Given the description of an element on the screen output the (x, y) to click on. 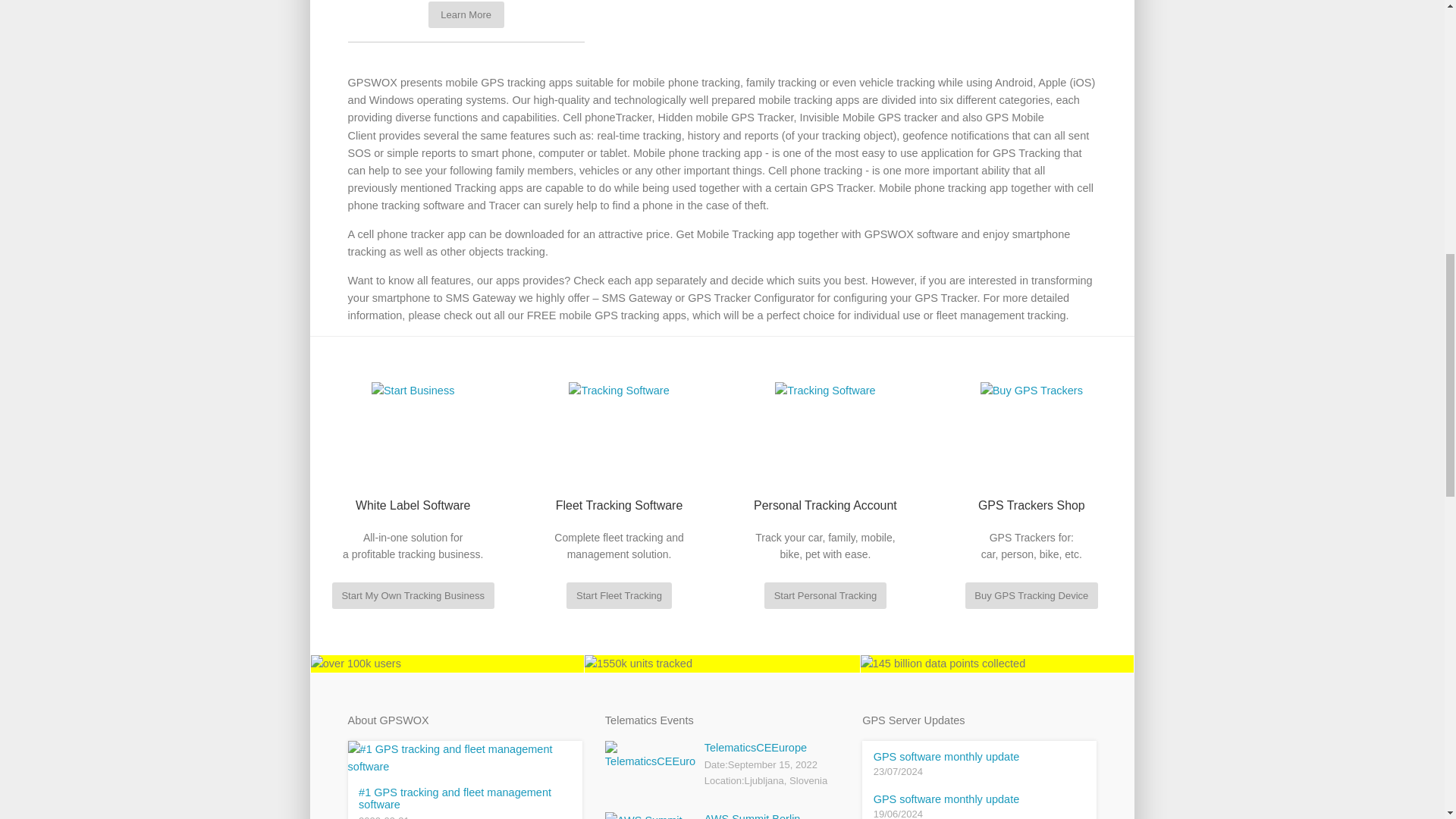
Press for more details (466, 21)
Tracking Software (824, 390)
Buy GPS Trackers (1031, 390)
Start Business (412, 390)
Tracking Software (618, 390)
